Given the description of an element on the screen output the (x, y) to click on. 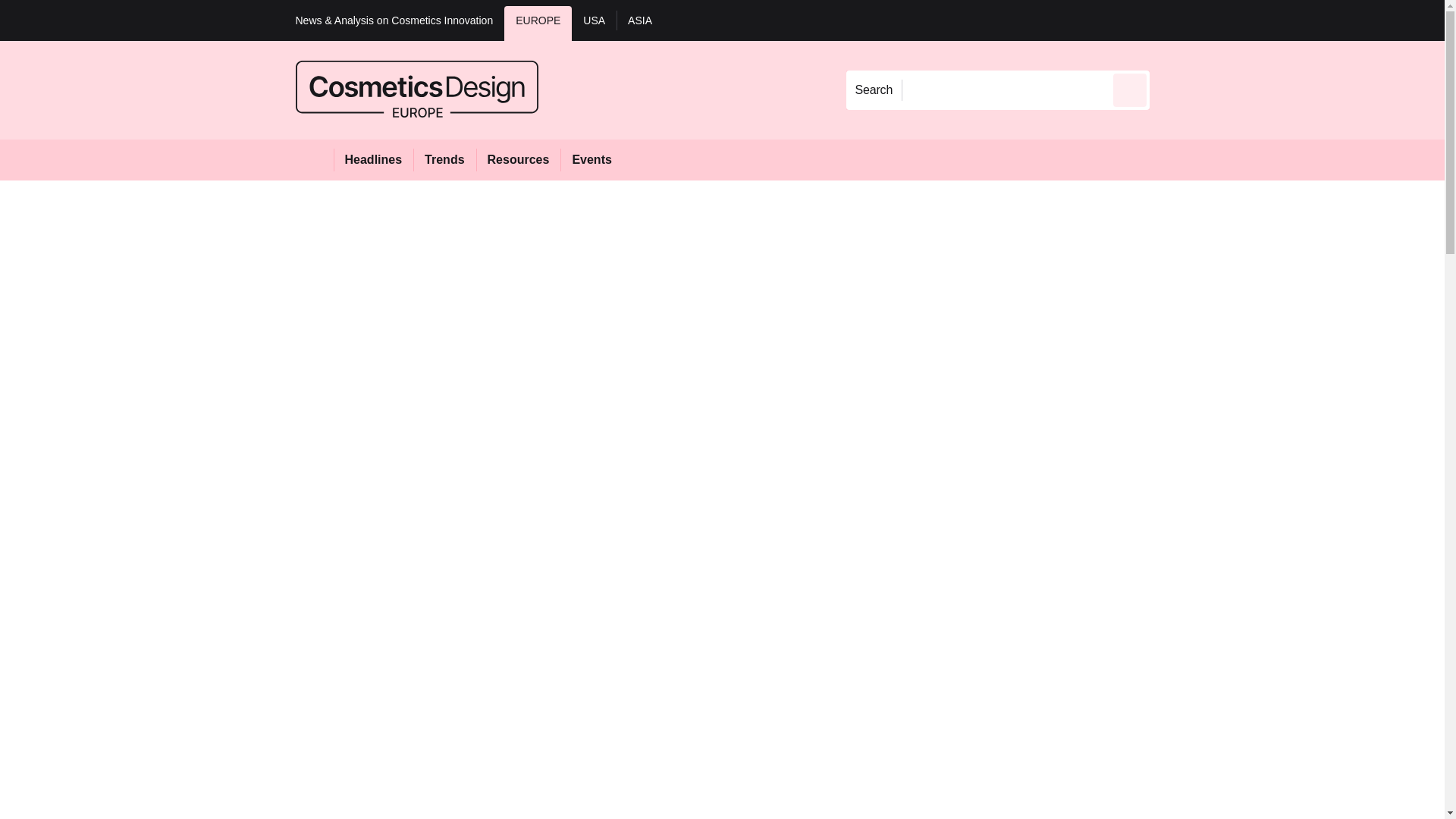
REGISTER (1250, 20)
Sign in (1171, 20)
CosmeticsDesign Europe (416, 89)
Home (314, 159)
Send (1129, 89)
Headlines (373, 159)
EUROPE (537, 22)
Send (1129, 90)
ASIA (639, 22)
Sign out (1174, 20)
